Given the description of an element on the screen output the (x, y) to click on. 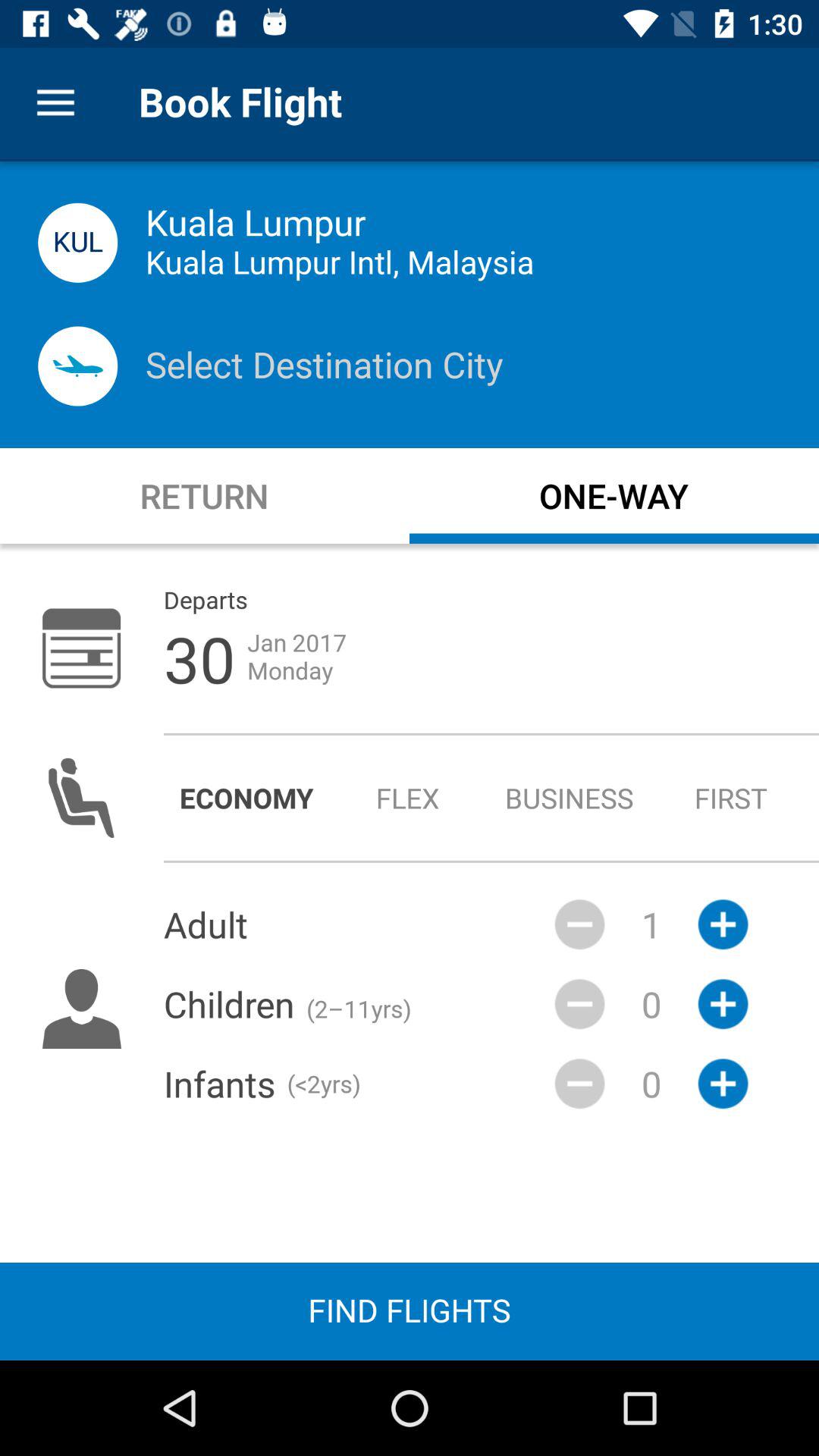
scroll until flex radio button (407, 797)
